Given the description of an element on the screen output the (x, y) to click on. 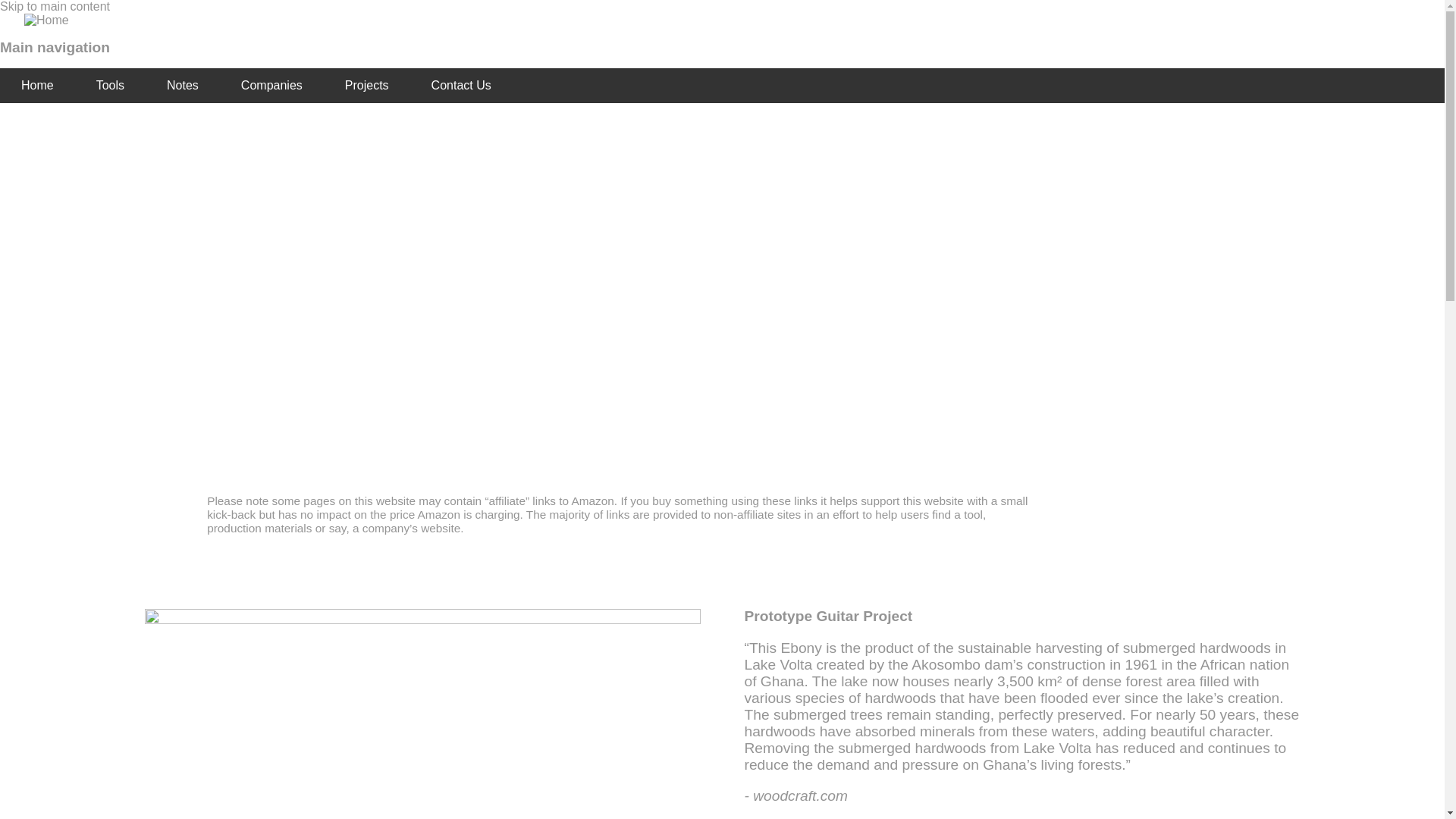
Companies (271, 85)
Home (37, 85)
Skip to main content (55, 6)
Notes (182, 85)
Contact Us (461, 85)
Prototype Guitar Project (828, 616)
Tools (110, 85)
Projects (366, 85)
